Given the description of an element on the screen output the (x, y) to click on. 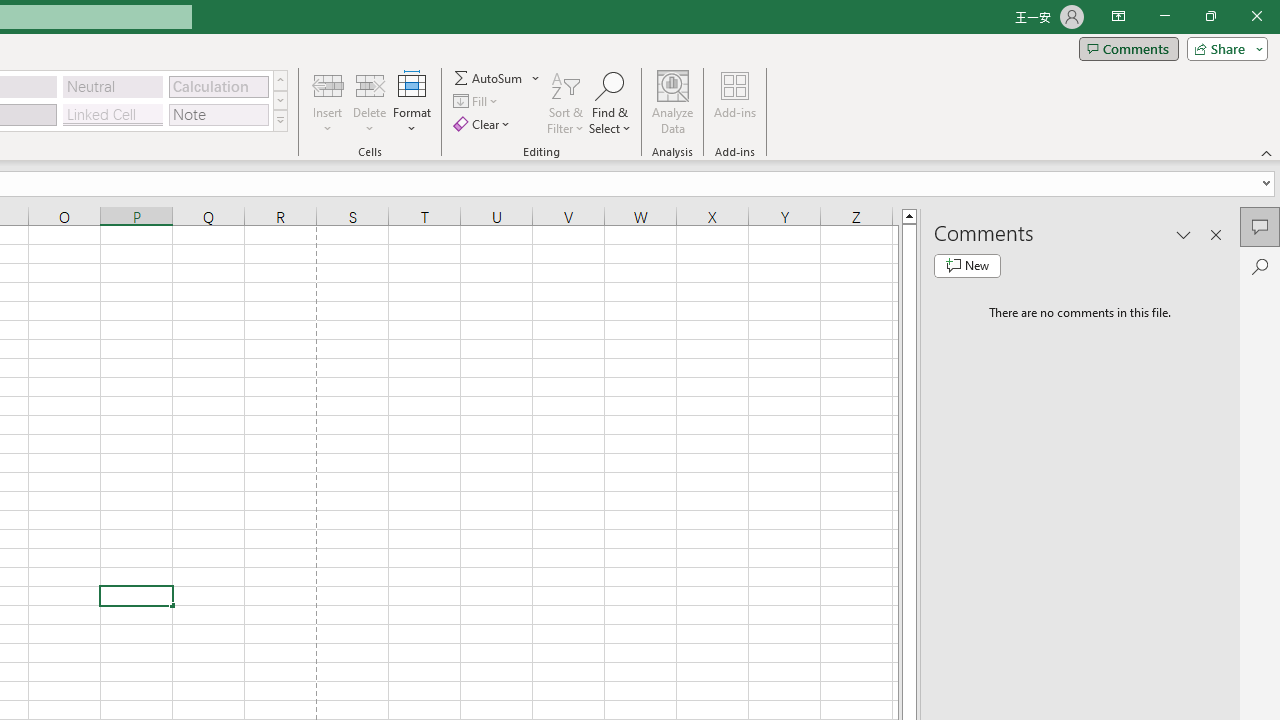
Sort & Filter (566, 102)
Delete Cells... (369, 84)
Fill (477, 101)
Delete (369, 102)
Linked Cell (113, 114)
